Given the description of an element on the screen output the (x, y) to click on. 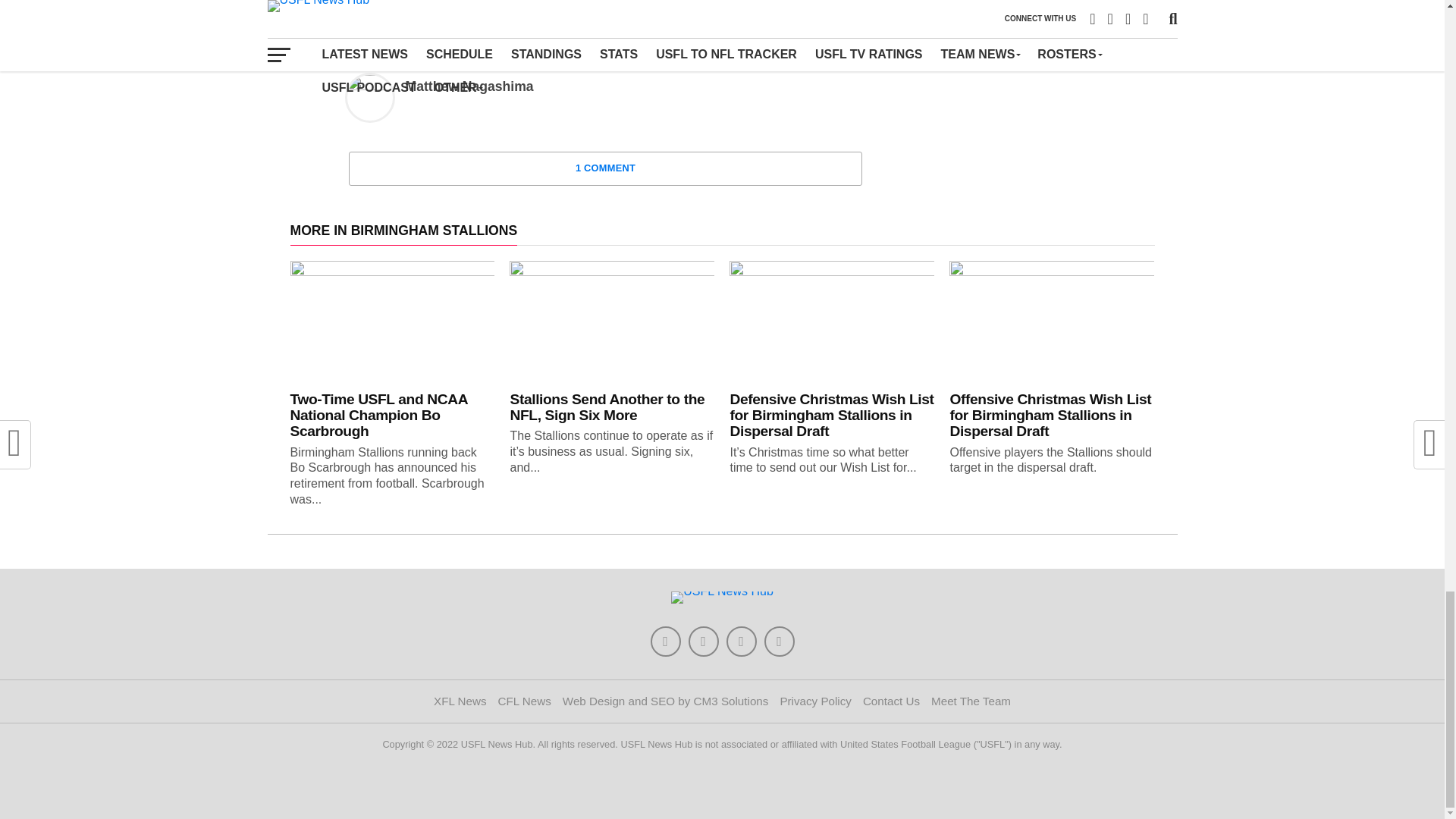
Posts by Matthew Nagashima (468, 86)
